Given the description of an element on the screen output the (x, y) to click on. 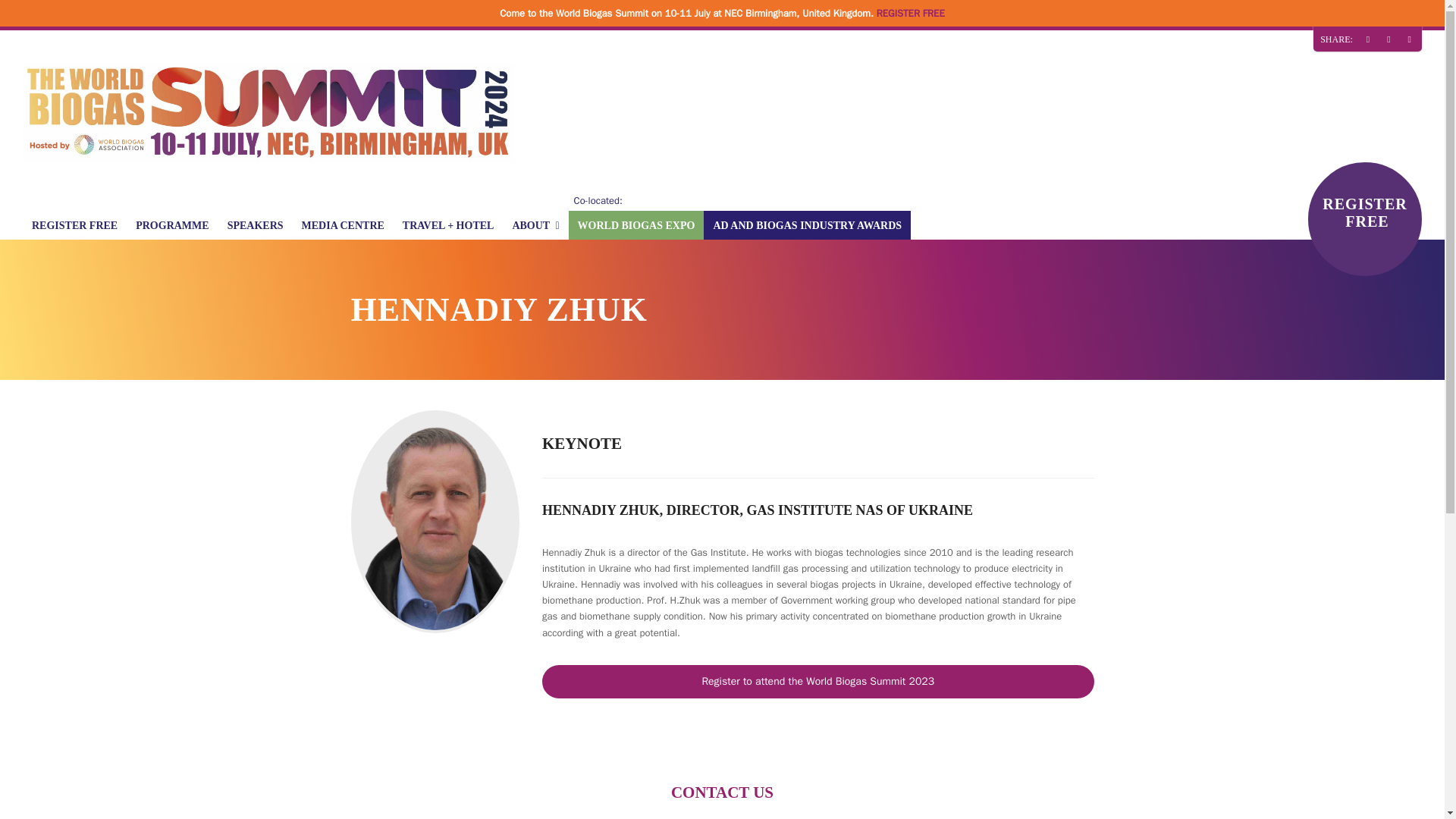
REGISTER FREE (910, 12)
Register to attend the World Biogas Summit 2023 (817, 681)
Hennadiy-removebg-preview (434, 521)
AD AND BIOGAS INDUSTRY AWARDS (807, 224)
WORLD BIOGAS EXPO (636, 224)
ABOUT (534, 224)
REGISTER FREE (74, 224)
SPEAKERS (255, 224)
PROGRAMME (171, 224)
REGISTER FREE (1364, 219)
MEDIA CENTRE (342, 224)
